Given the description of an element on the screen output the (x, y) to click on. 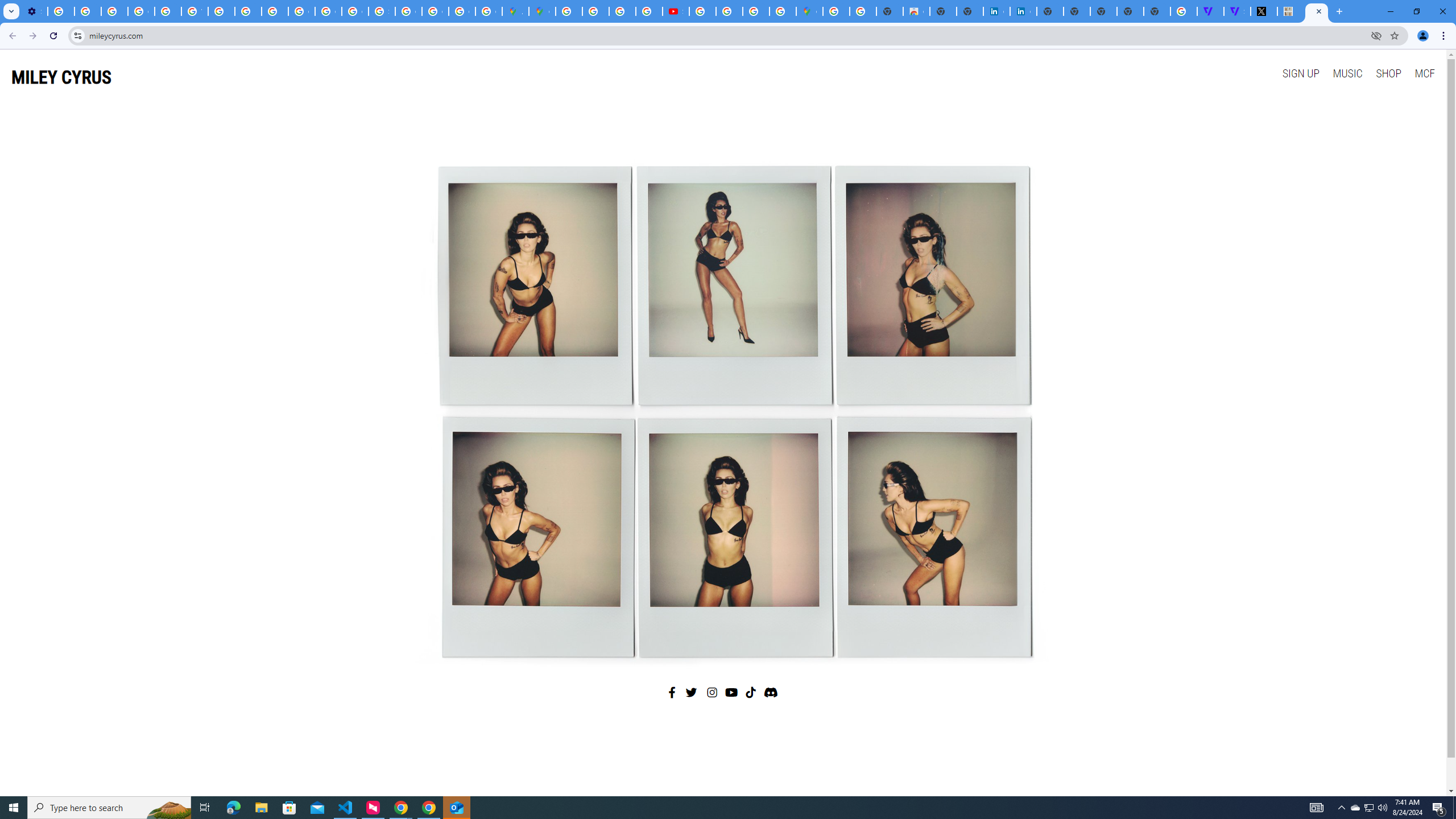
Google Account Help (141, 11)
New Tab (1156, 11)
Privacy Help Center - Policies Help (595, 11)
Miley Cyrus (722, 407)
Settings - Customize profile (34, 11)
